Given the description of an element on the screen output the (x, y) to click on. 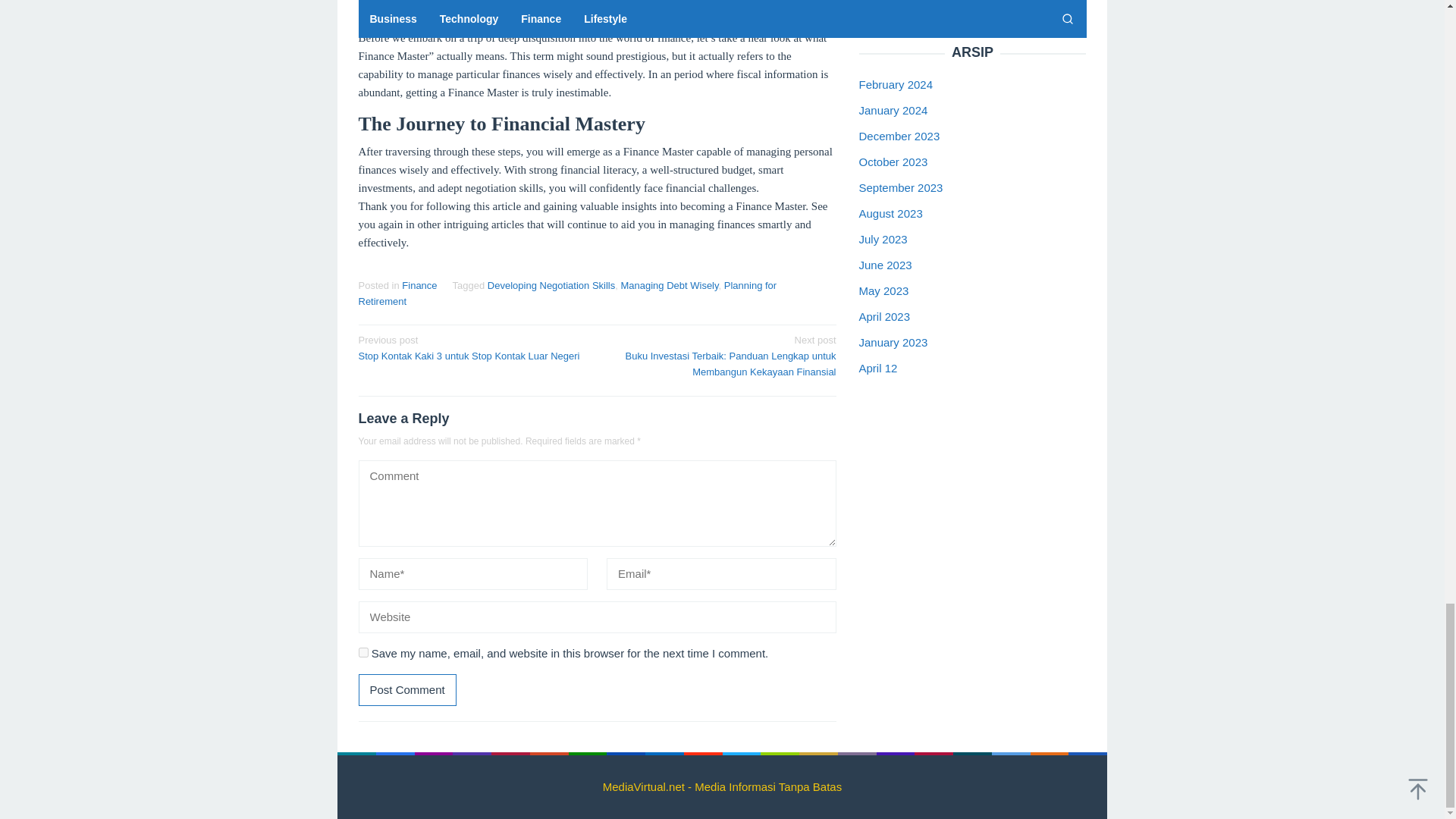
Post Comment (406, 689)
Finance (418, 285)
Planning for Retirement (567, 293)
Post Comment (406, 689)
Managing Debt Wisely (668, 285)
yes (363, 652)
Developing Negotiation Skills (550, 285)
